Given the description of an element on the screen output the (x, y) to click on. 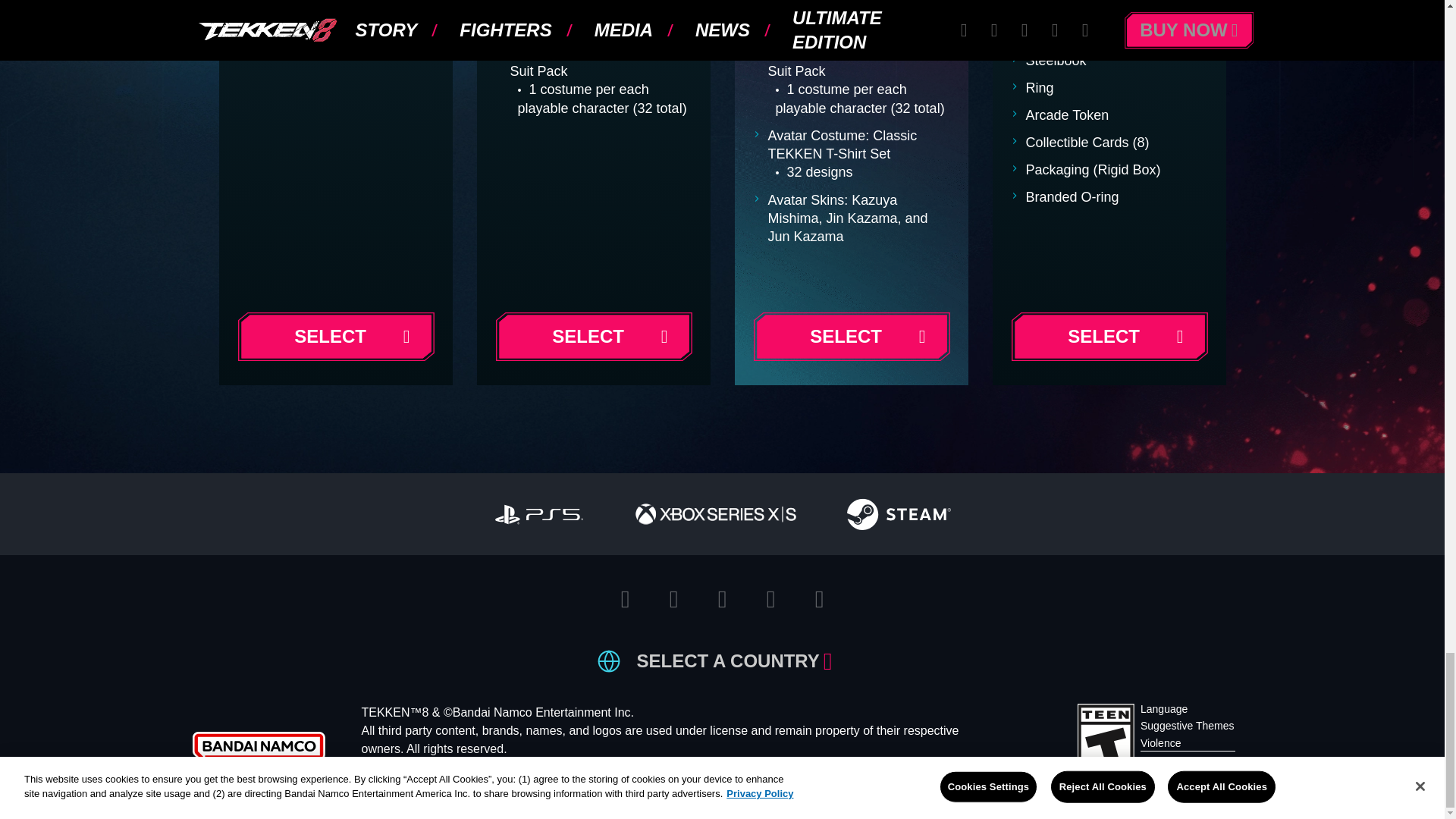
SELECT (1108, 336)
SELECT (593, 336)
SELECT (334, 336)
SELECT A COUNTRY (734, 660)
TERMS OF SERVICE (420, 785)
COMMUNITY EVENTS (680, 785)
PRIVACY POLICY (549, 785)
LEGAL (782, 785)
SELECT (850, 336)
